Given the description of an element on the screen output the (x, y) to click on. 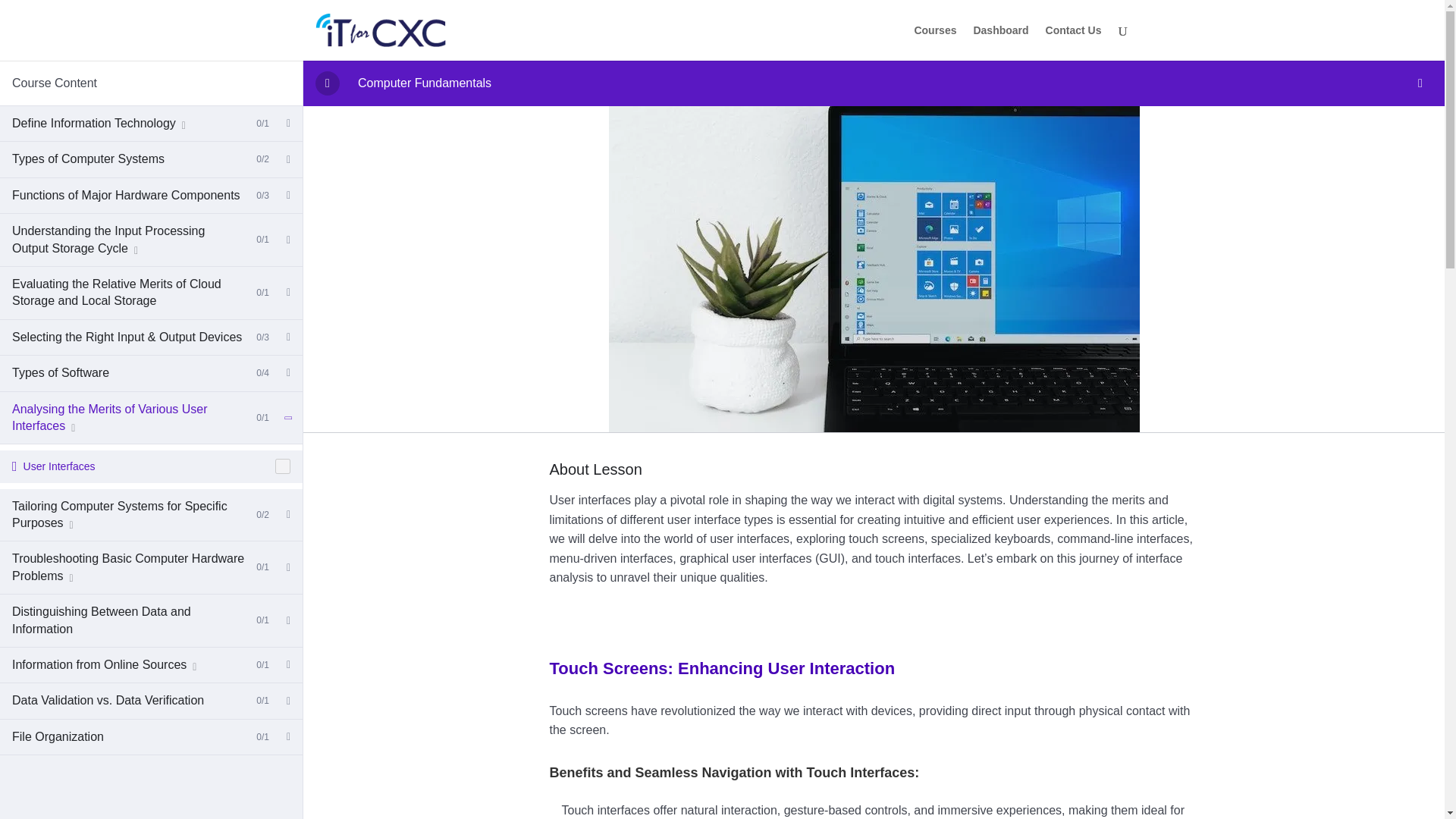
Dashboard (999, 42)
on (282, 466)
User Interfaces (151, 466)
Courses (935, 42)
Contact Us (1073, 42)
